Given the description of an element on the screen output the (x, y) to click on. 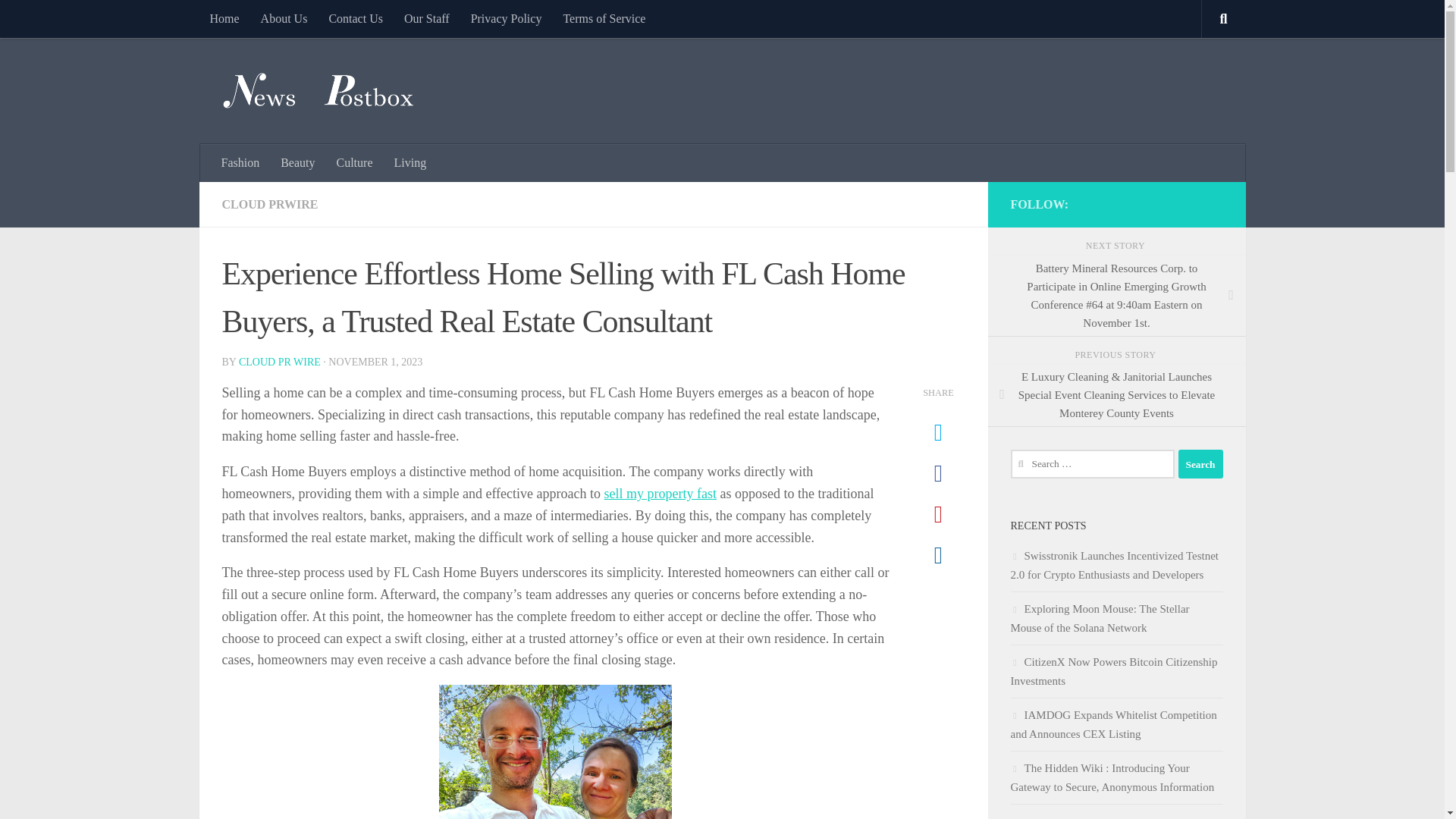
Our Staff (426, 18)
CLOUD PRWIRE (269, 204)
Posts by Cloud PR Wire (279, 361)
Culture (355, 162)
Living (411, 162)
sell my property fast (660, 493)
CLOUD PR WIRE (279, 361)
Skip to content (59, 20)
Home (223, 18)
Beauty (296, 162)
Contact Us (355, 18)
About Us (284, 18)
Terms of Service (603, 18)
Fashion (240, 162)
Search (1200, 463)
